Given the description of an element on the screen output the (x, y) to click on. 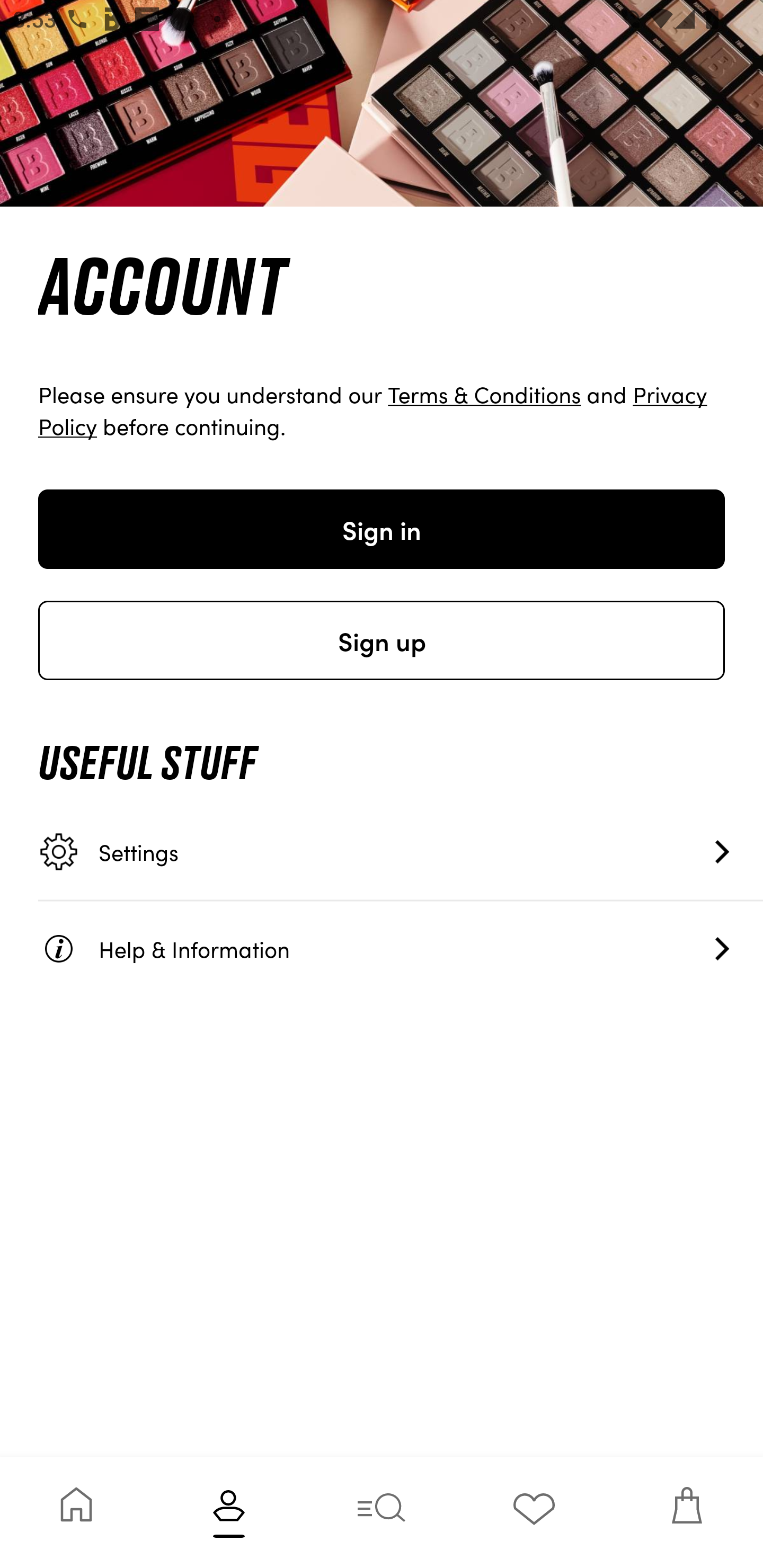
Sign in (381, 529)
Sign up (381, 640)
Settings (400, 852)
Help & Information (400, 948)
